Given the description of an element on the screen output the (x, y) to click on. 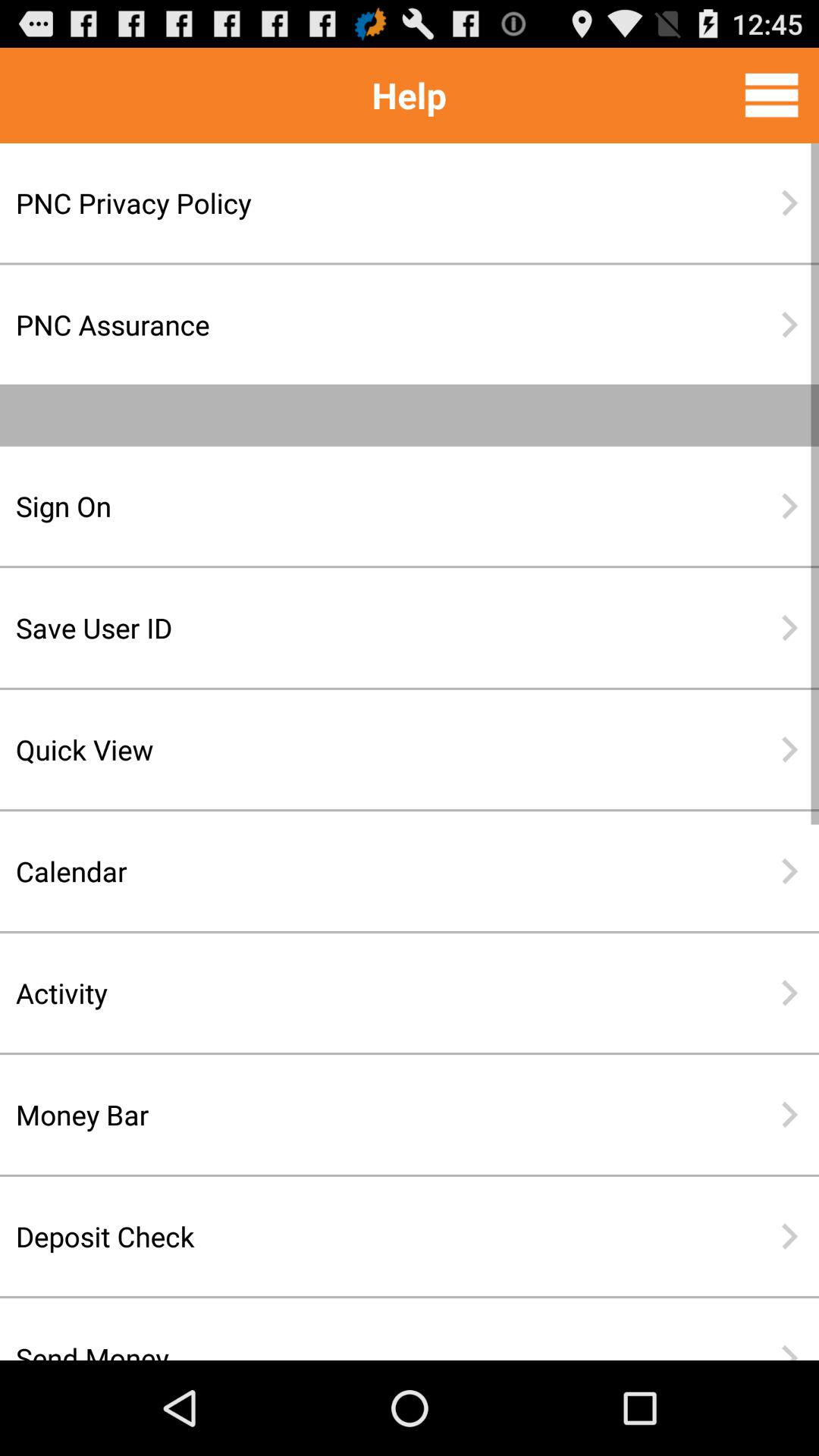
tap the item to the right of help (771, 95)
